Given the description of an element on the screen output the (x, y) to click on. 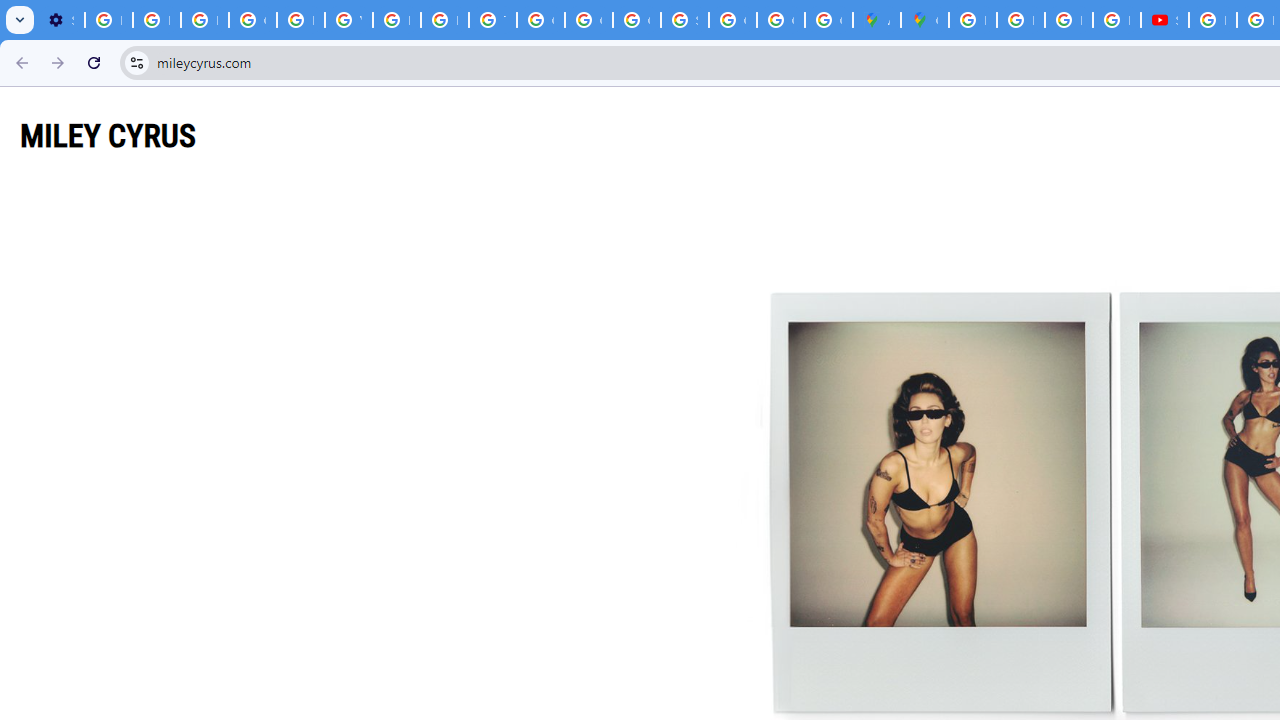
https://scholar.google.com/ (396, 20)
Privacy Help Center - Policies Help (1020, 20)
MILEY CYRUS (107, 135)
Privacy Help Center - Policies Help (444, 20)
Delete photos & videos - Computer - Google Photos Help (108, 20)
Blogger Policies and Guidelines - Transparency Center (972, 20)
Google Account Help (252, 20)
